Given the description of an element on the screen output the (x, y) to click on. 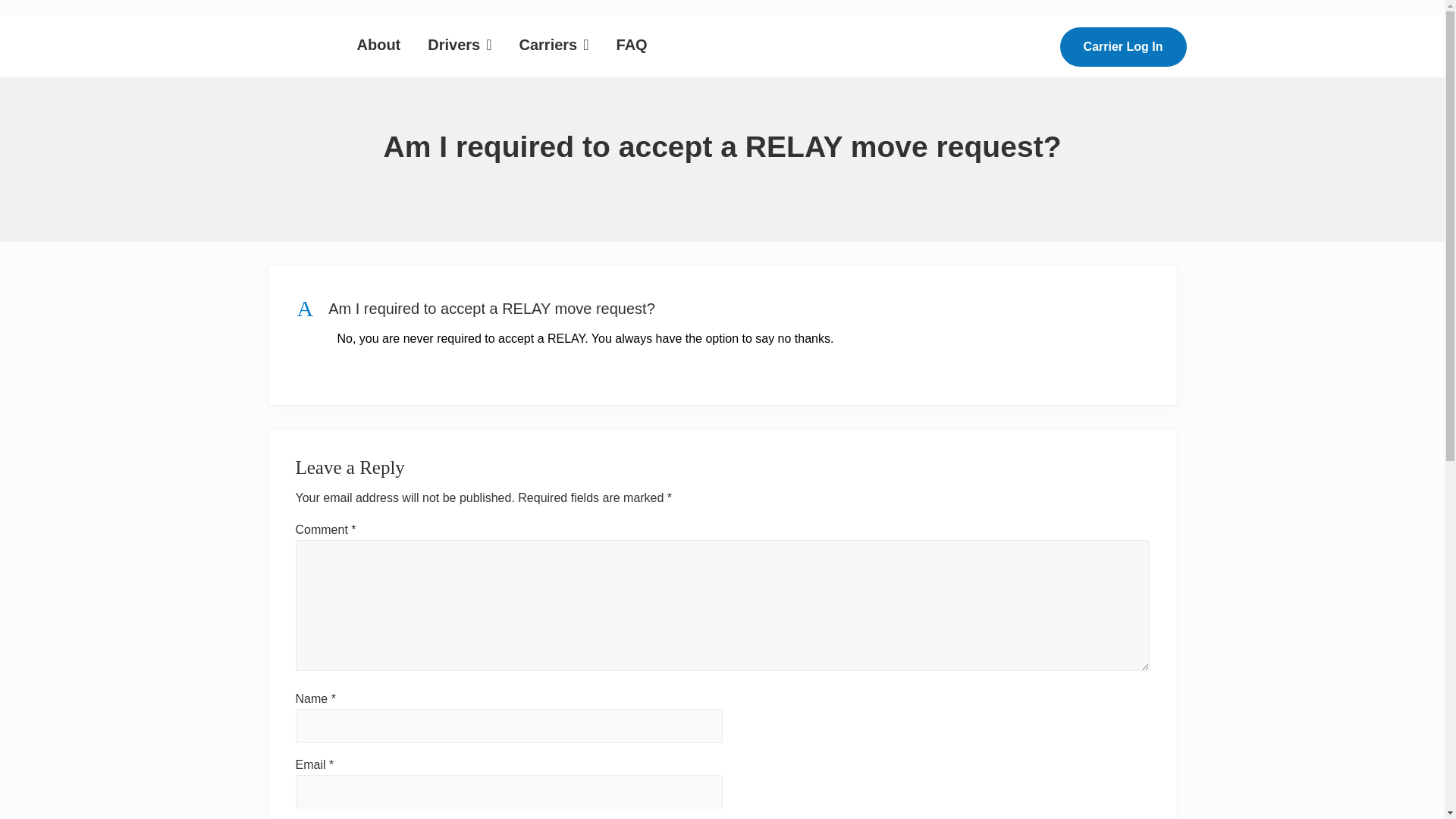
About (377, 43)
Carrier Log In (1122, 46)
Carriers (722, 308)
Drivers (553, 43)
FAQ (458, 43)
